Given the description of an element on the screen output the (x, y) to click on. 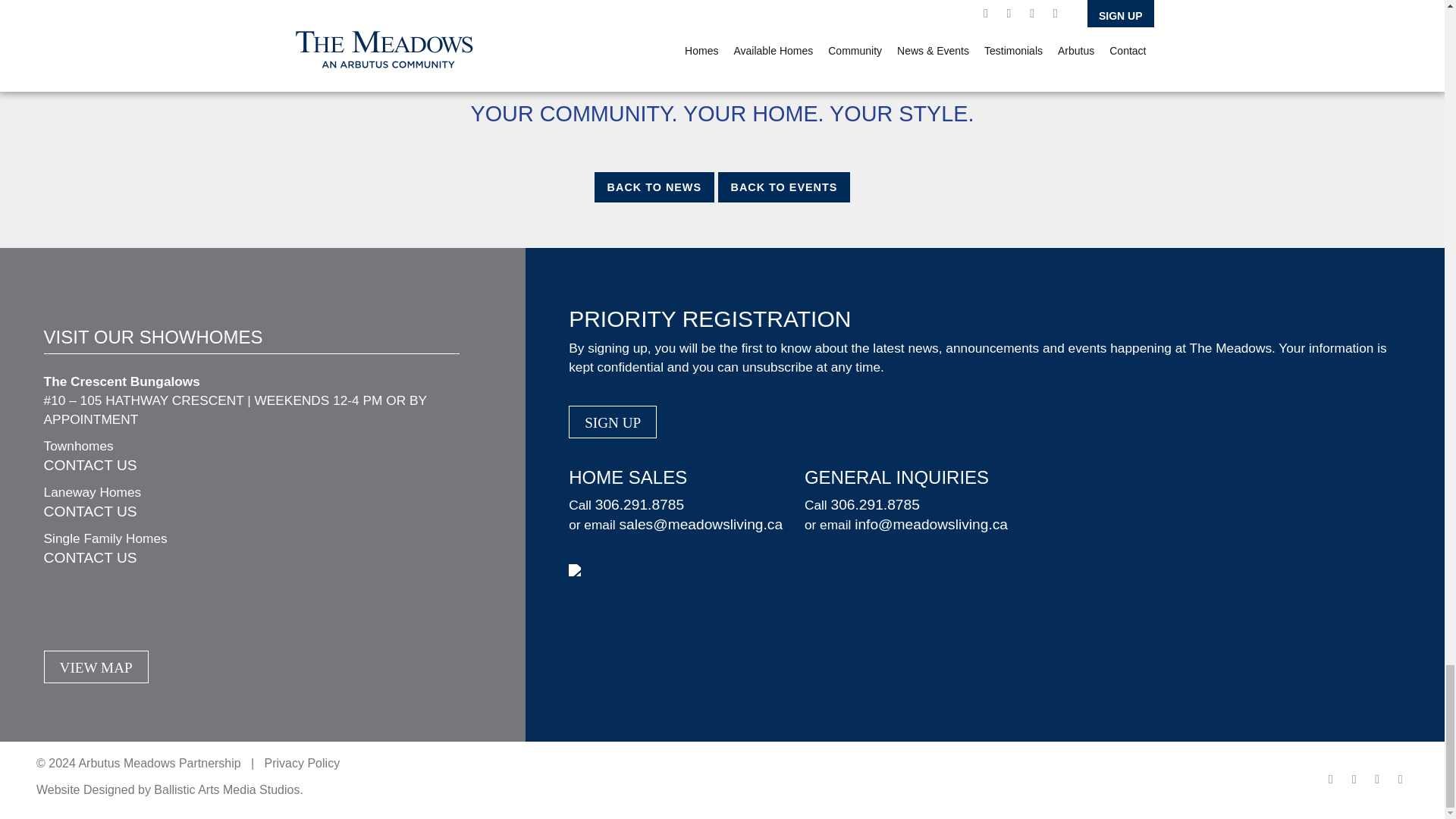
SIGN UP (612, 421)
306.291.8785 (873, 504)
 email or call us (489, 69)
Ballistic Arts Media Studios (226, 789)
VIEW MAP (95, 666)
BACK TO NEWS (654, 186)
CONTACT US (89, 465)
Privacy Policy (302, 762)
CONTACT US (89, 557)
306.291.8785 (639, 504)
BACK TO EVENTS (783, 186)
CONTACT US (89, 511)
